Given the description of an element on the screen output the (x, y) to click on. 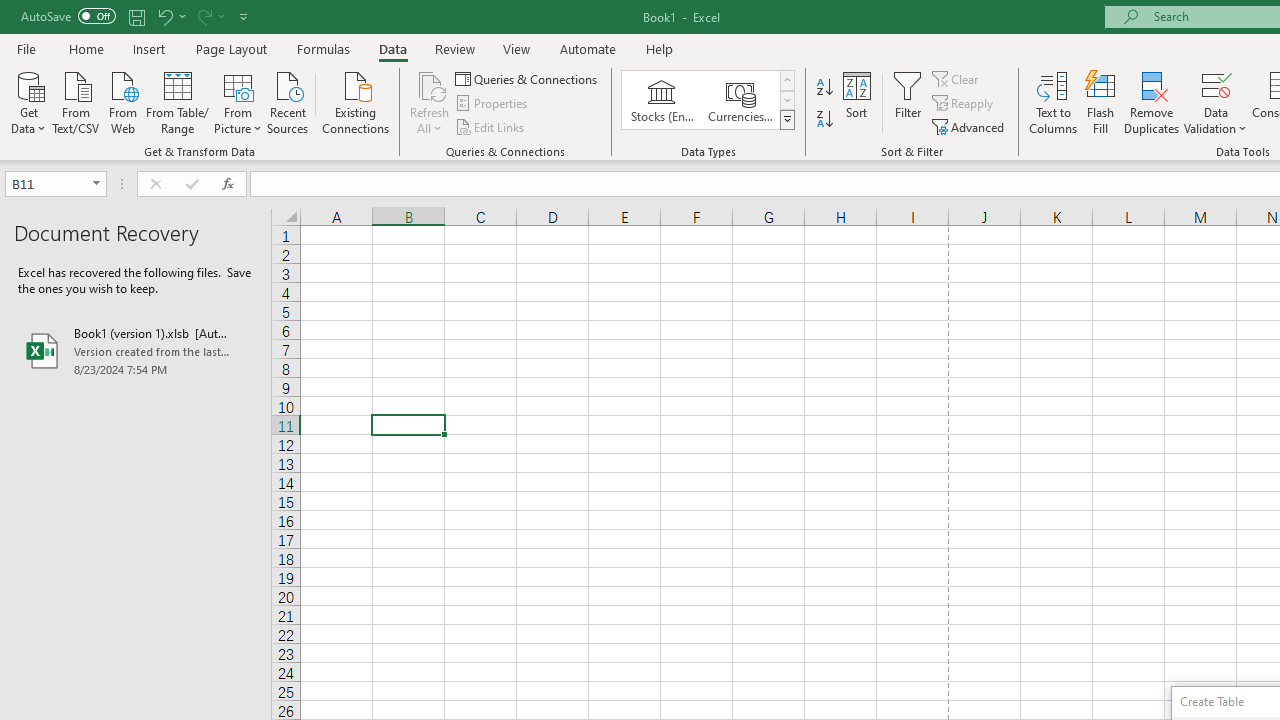
Refresh All (429, 84)
Stocks (English) (662, 100)
Home (86, 48)
Flash Fill (1101, 102)
AutomationID: ConvertToLinkedEntity (708, 99)
Get Data (28, 101)
Data (392, 48)
Sort A to Z (824, 87)
From Text/CSV (75, 101)
Filter (908, 102)
Reapply (964, 103)
From Table/Range (177, 101)
View (517, 48)
Automate (588, 48)
